Given the description of an element on the screen output the (x, y) to click on. 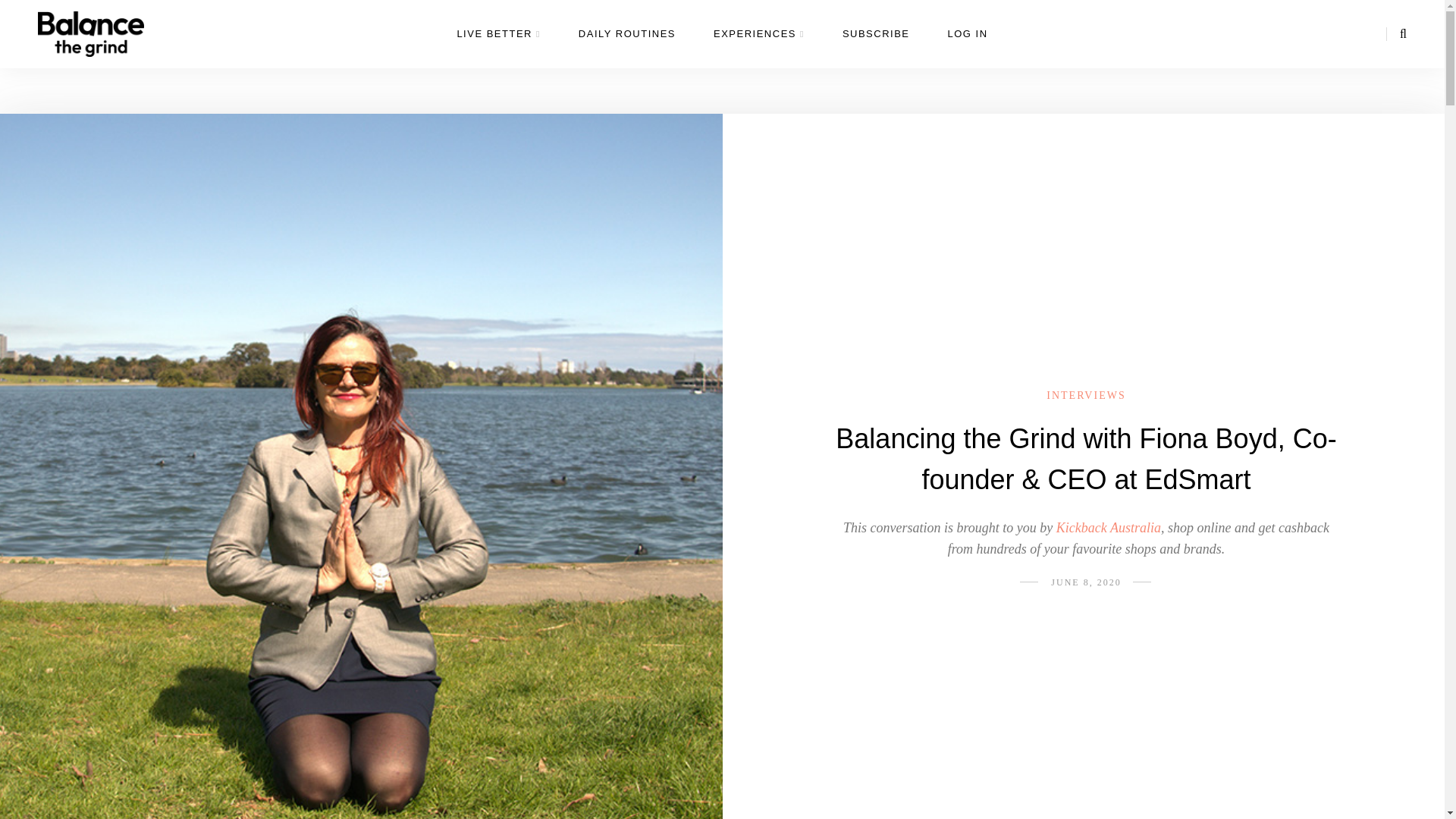
DAILY ROUTINES (626, 45)
LOG IN (967, 45)
EXPERIENCES (759, 45)
LIVE BETTER (498, 45)
SUBSCRIBE (876, 45)
